Given the description of an element on the screen output the (x, y) to click on. 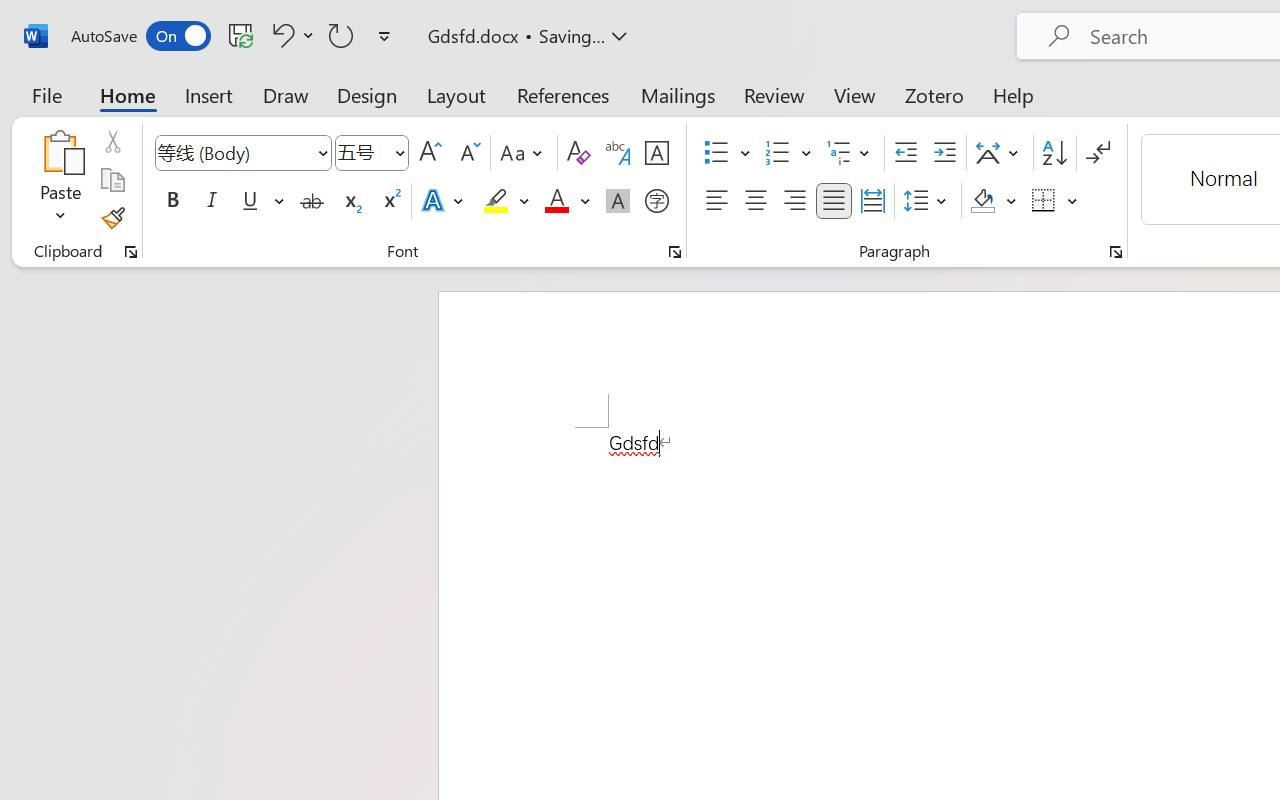
Align Left (716, 201)
Text Highlight Color (506, 201)
Copy (112, 179)
Bold (172, 201)
Decrease Indent (906, 153)
Character Border (656, 153)
